Given the description of an element on the screen output the (x, y) to click on. 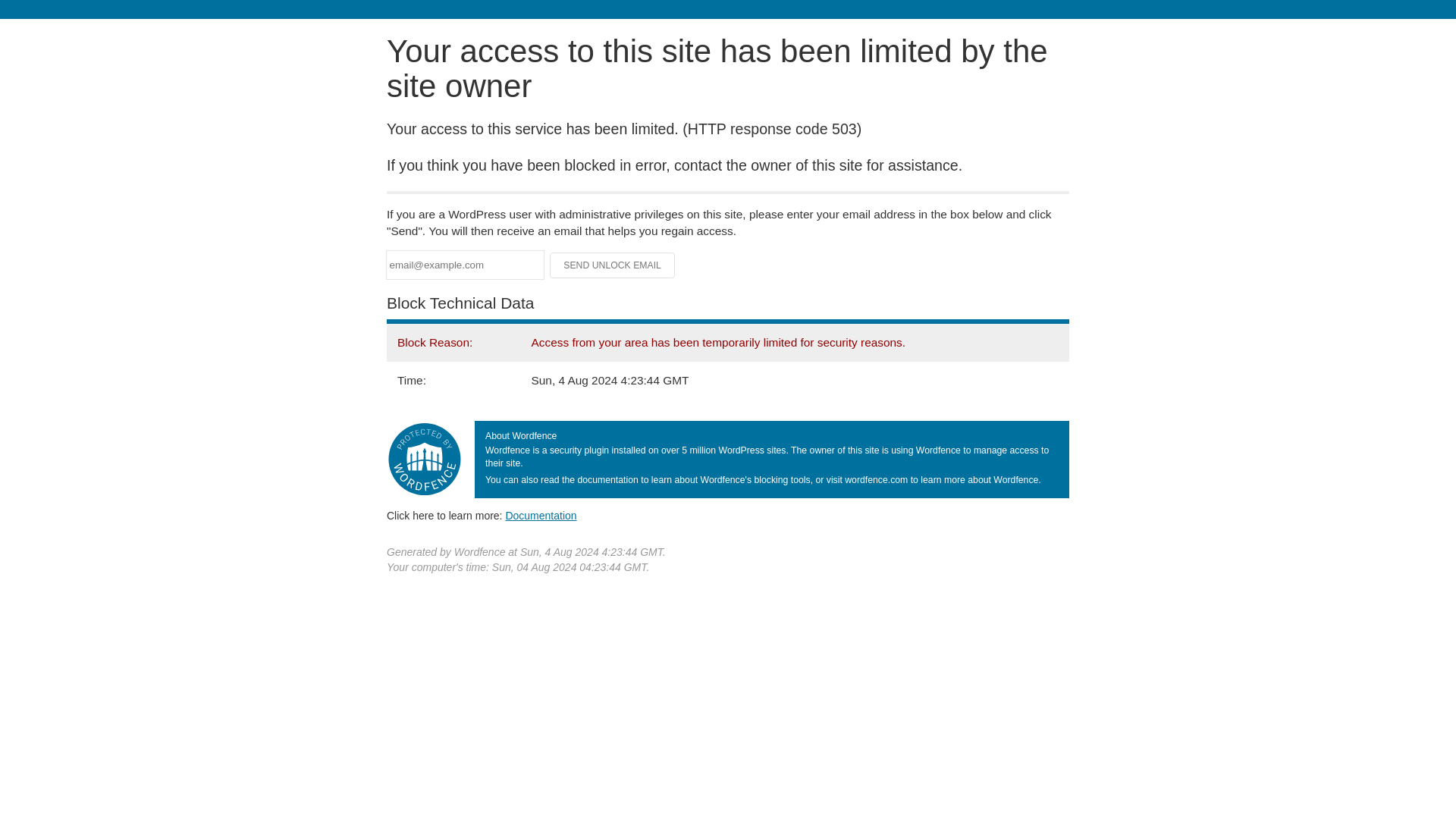
Send Unlock Email (612, 265)
Send Unlock Email (612, 265)
Documentation (540, 515)
